Given the description of an element on the screen output the (x, y) to click on. 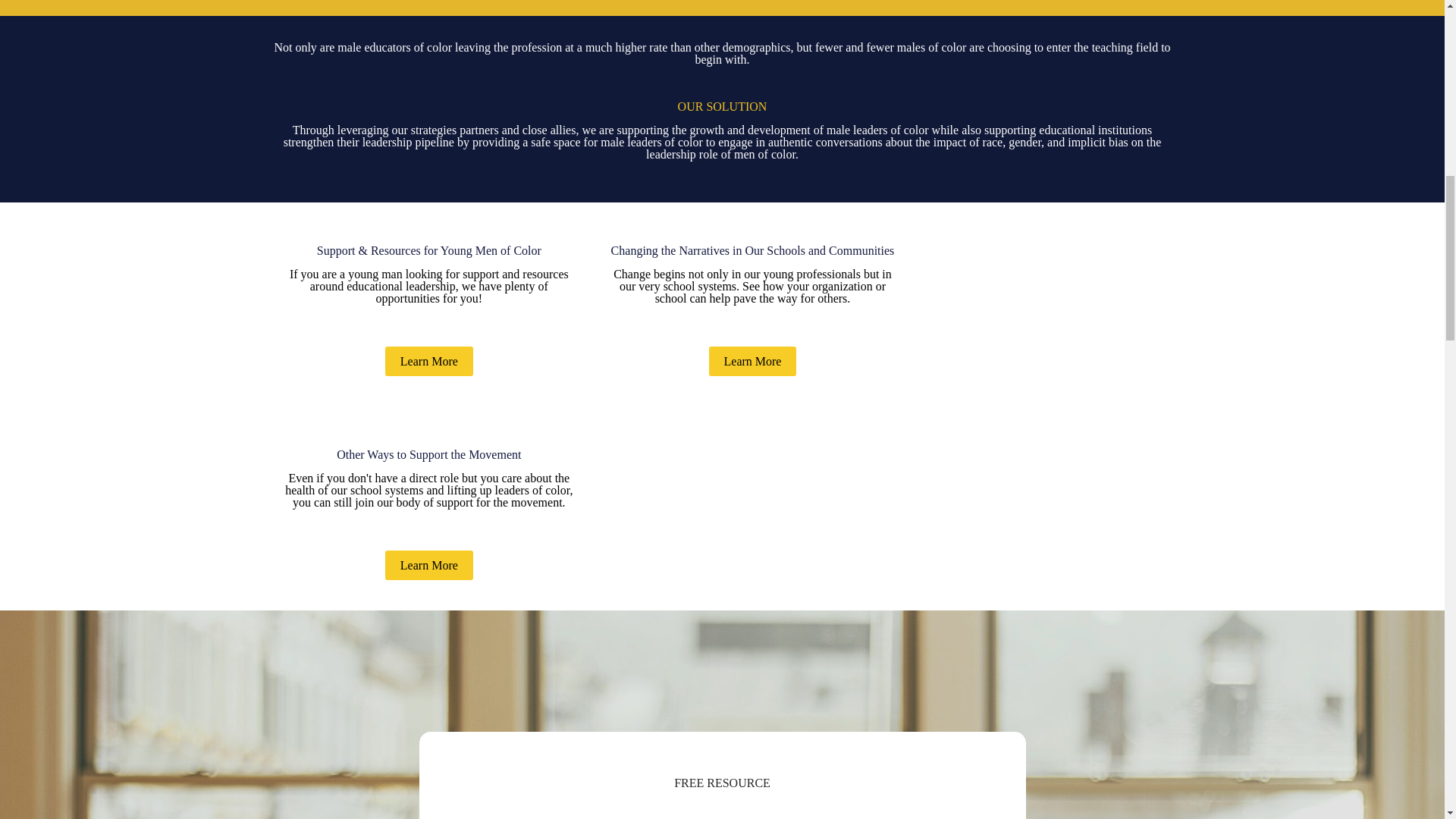
Learn More (429, 564)
Learn More (429, 360)
Learn More (751, 360)
